Given the description of an element on the screen output the (x, y) to click on. 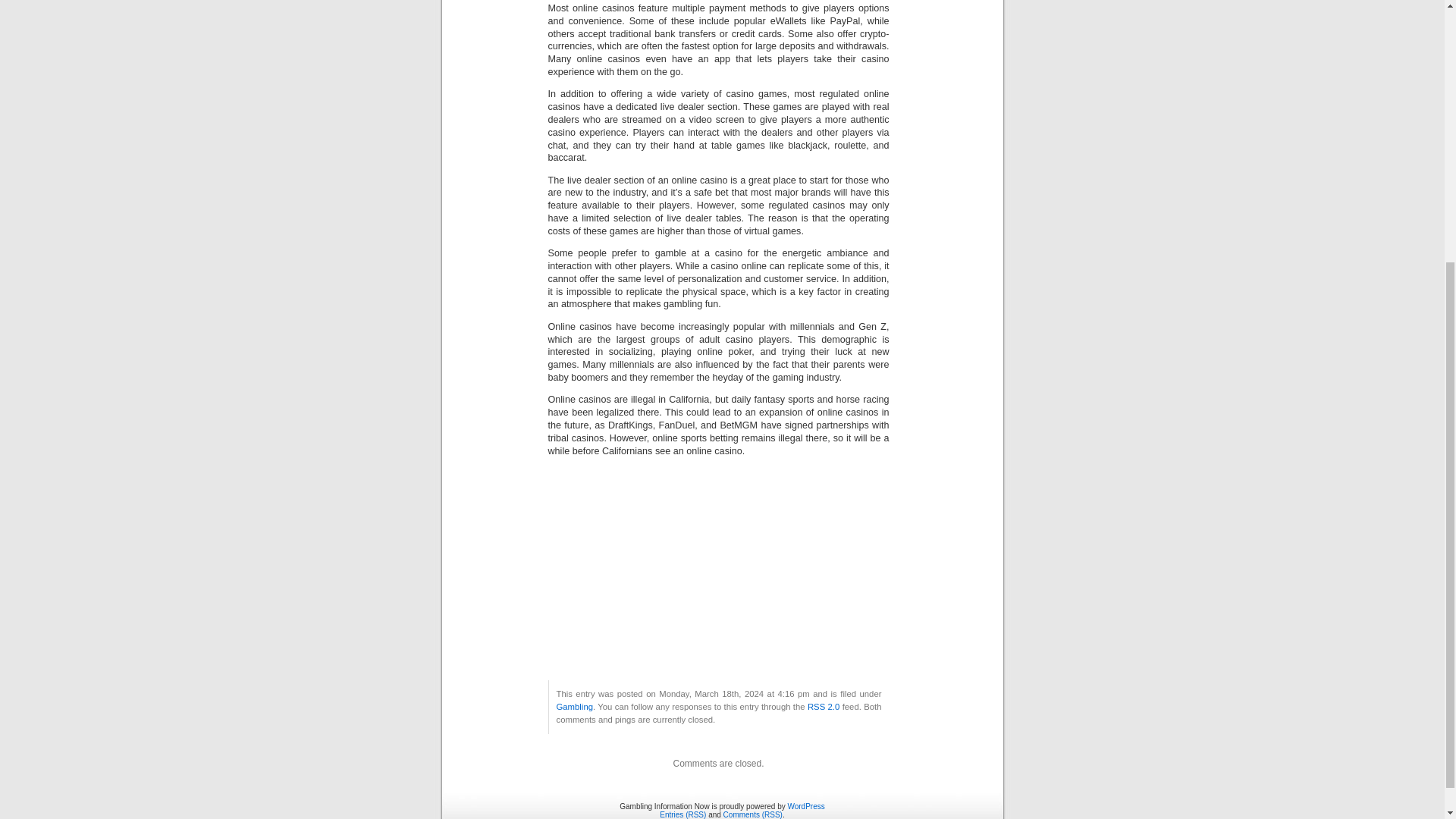
RSS 2.0 (824, 706)
Gambling (574, 706)
YouTube video (717, 561)
WordPress (805, 806)
